Given the description of an element on the screen output the (x, y) to click on. 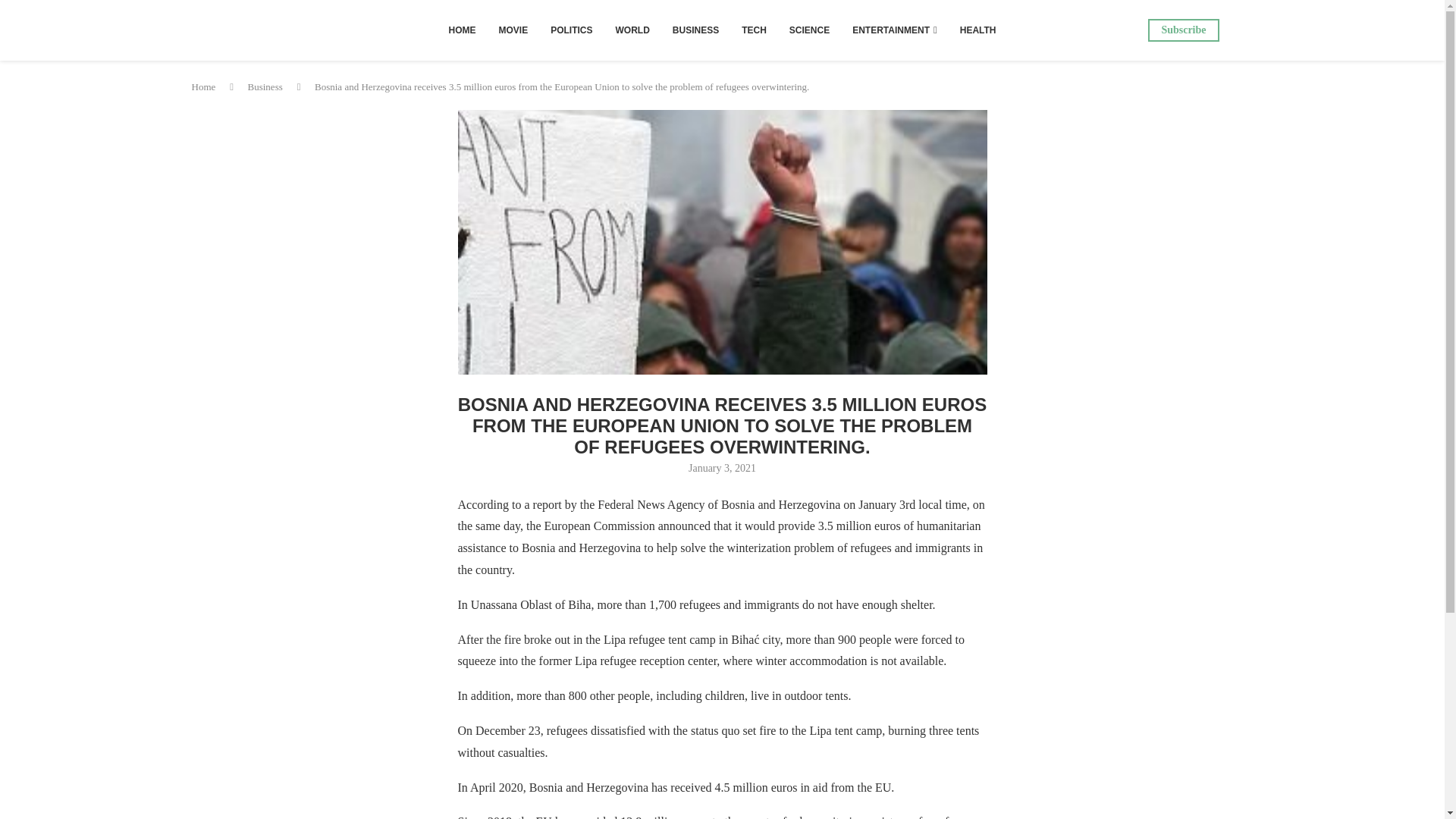
HOME (461, 30)
BUSINESS (695, 30)
ENTERTAINMENT (895, 30)
Subscribe (1183, 29)
HEALTH (978, 30)
WORLD (632, 30)
MOVIE (512, 30)
POLITICS (571, 30)
TECH (753, 30)
SCIENCE (809, 30)
